Given the description of an element on the screen output the (x, y) to click on. 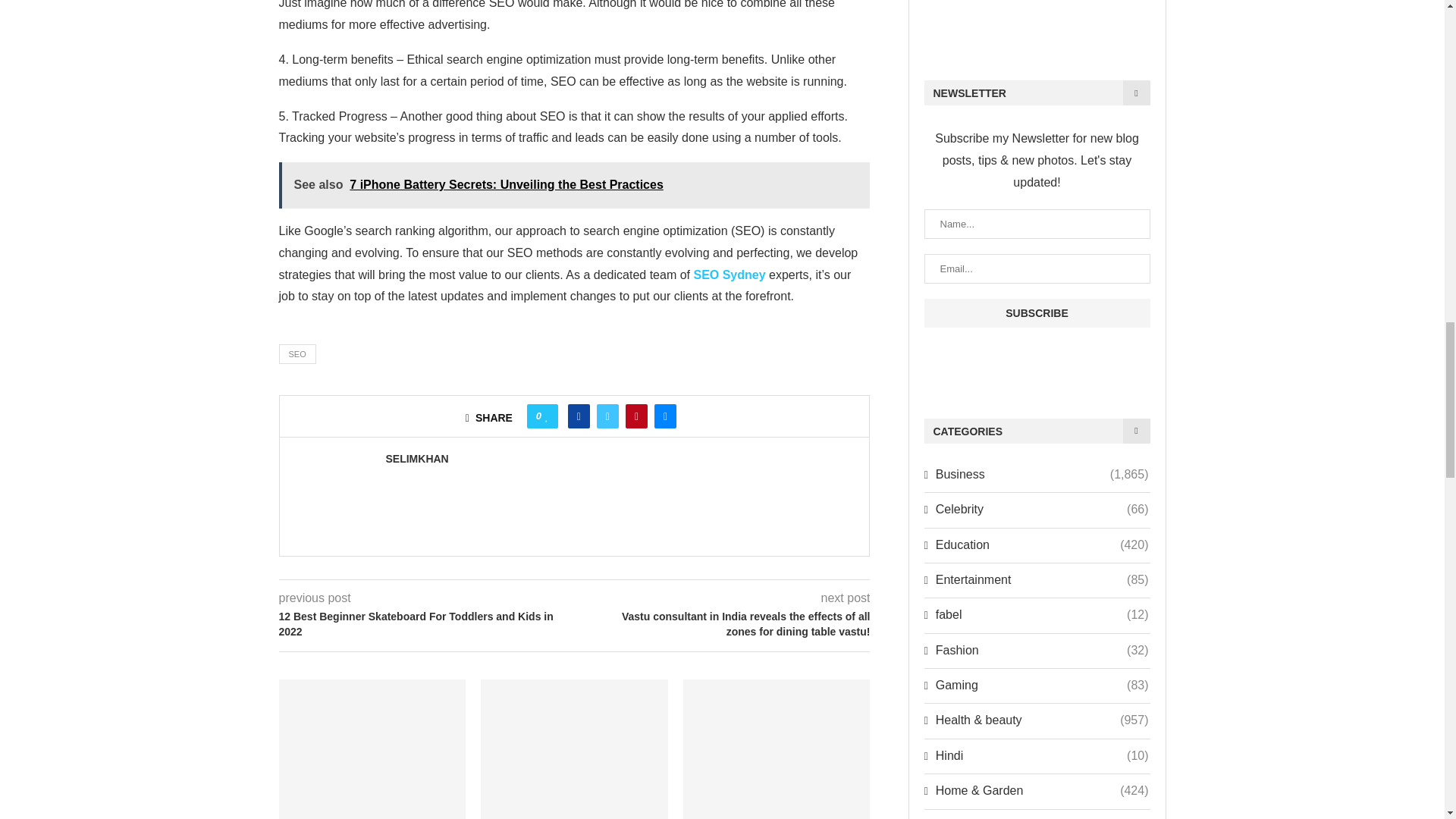
12 Best Beginner Skateboard For Toddlers and Kids in 2022 (427, 624)
How to Make Canvas Artwork Last Longer? (776, 749)
Subscribe (1036, 312)
SEO (297, 353)
Author selimkhan (416, 458)
SEO Sydney (729, 274)
Discover Unmatched Performance with BF Goodrich Tyres (372, 749)
SELIMKHAN (416, 458)
